Given the description of an element on the screen output the (x, y) to click on. 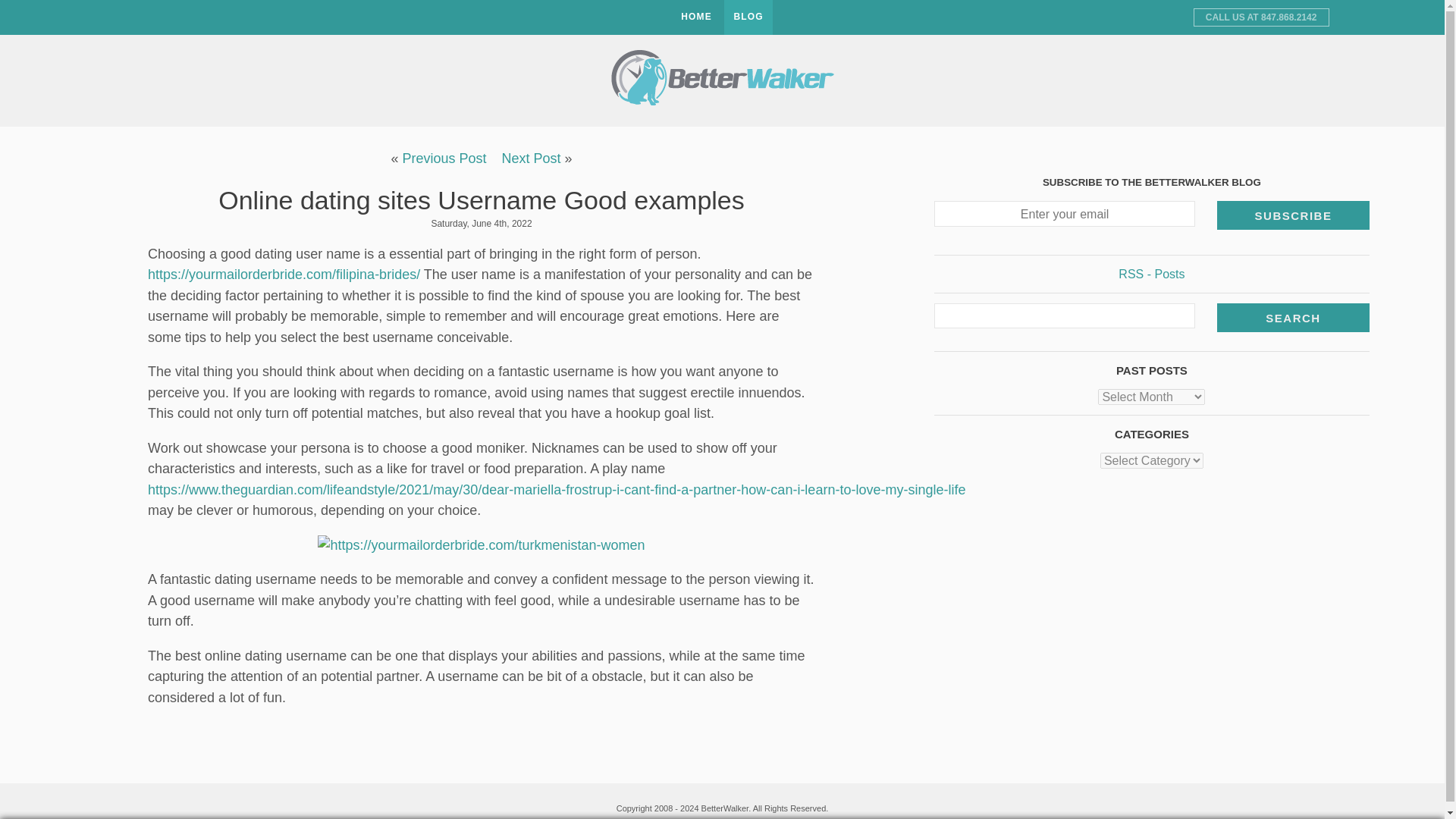
HOME (695, 17)
Subscribe (1293, 215)
Previous Post (443, 158)
Search (1293, 317)
RSS - Posts (1151, 273)
BLOG (747, 17)
Subscribe (1293, 215)
CALL US AT 847.868.2142 (1261, 17)
Search (1293, 317)
Next Post (531, 158)
